Given the description of an element on the screen output the (x, y) to click on. 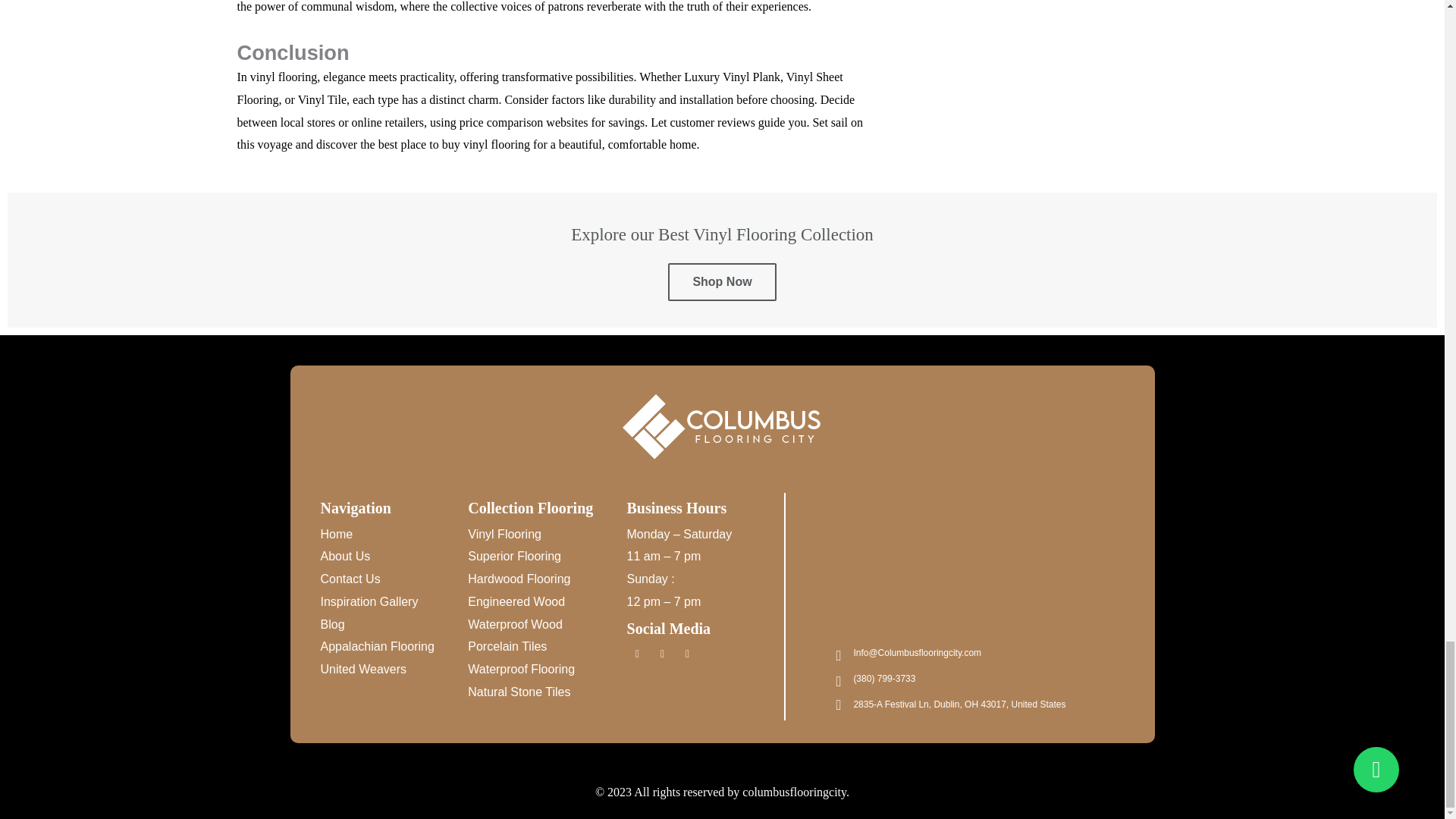
Columbus Flooring City (977, 568)
